Given the description of an element on the screen output the (x, y) to click on. 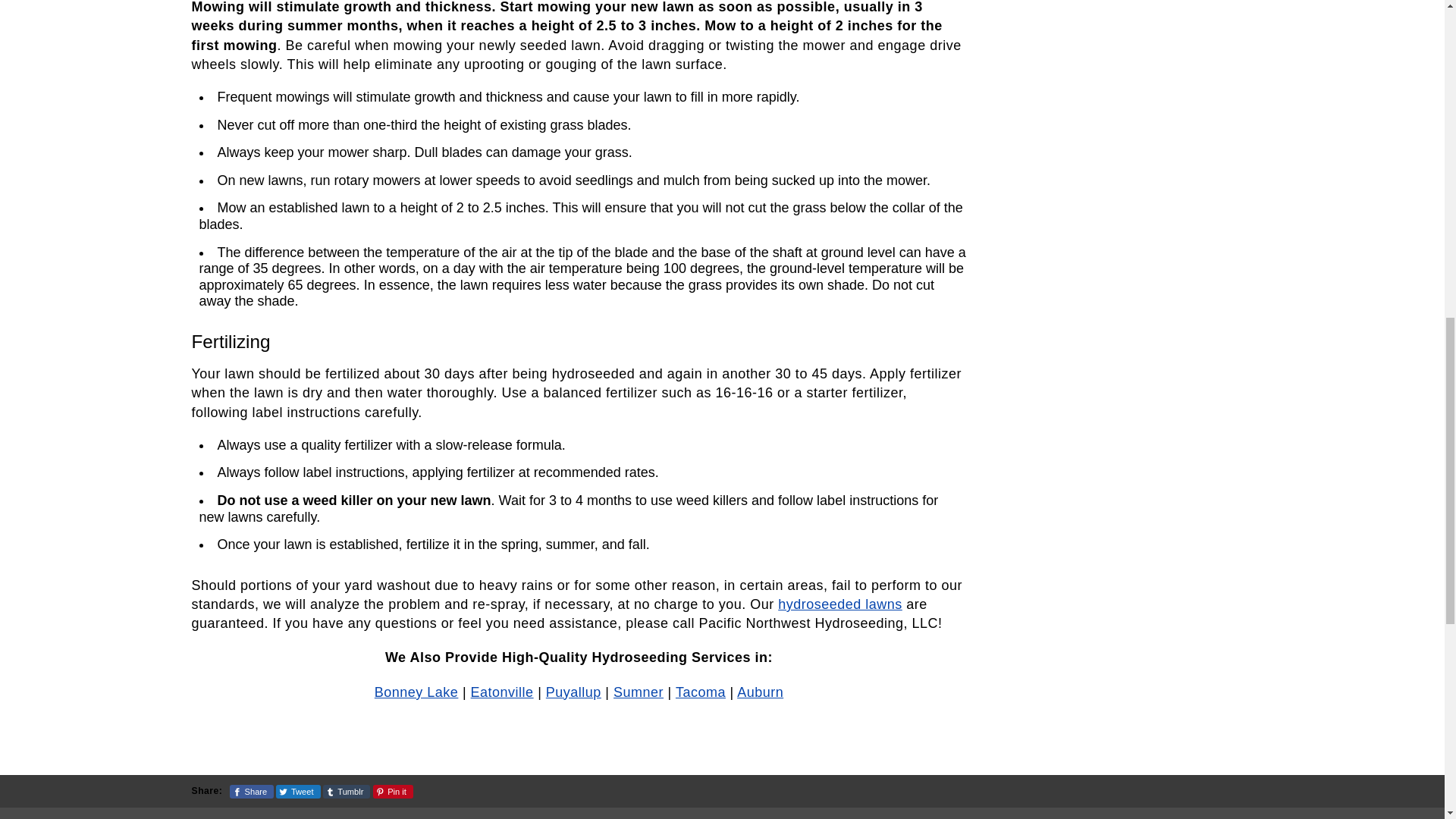
hydroseeded lawns (839, 604)
Tweet (298, 791)
Tacoma (700, 692)
Share (251, 791)
Pin it (392, 791)
Bonney Lake (416, 692)
Sumner (637, 692)
Puyallup (573, 692)
Auburn (759, 692)
Tumblr (347, 791)
Eatonville (502, 692)
